Given the description of an element on the screen output the (x, y) to click on. 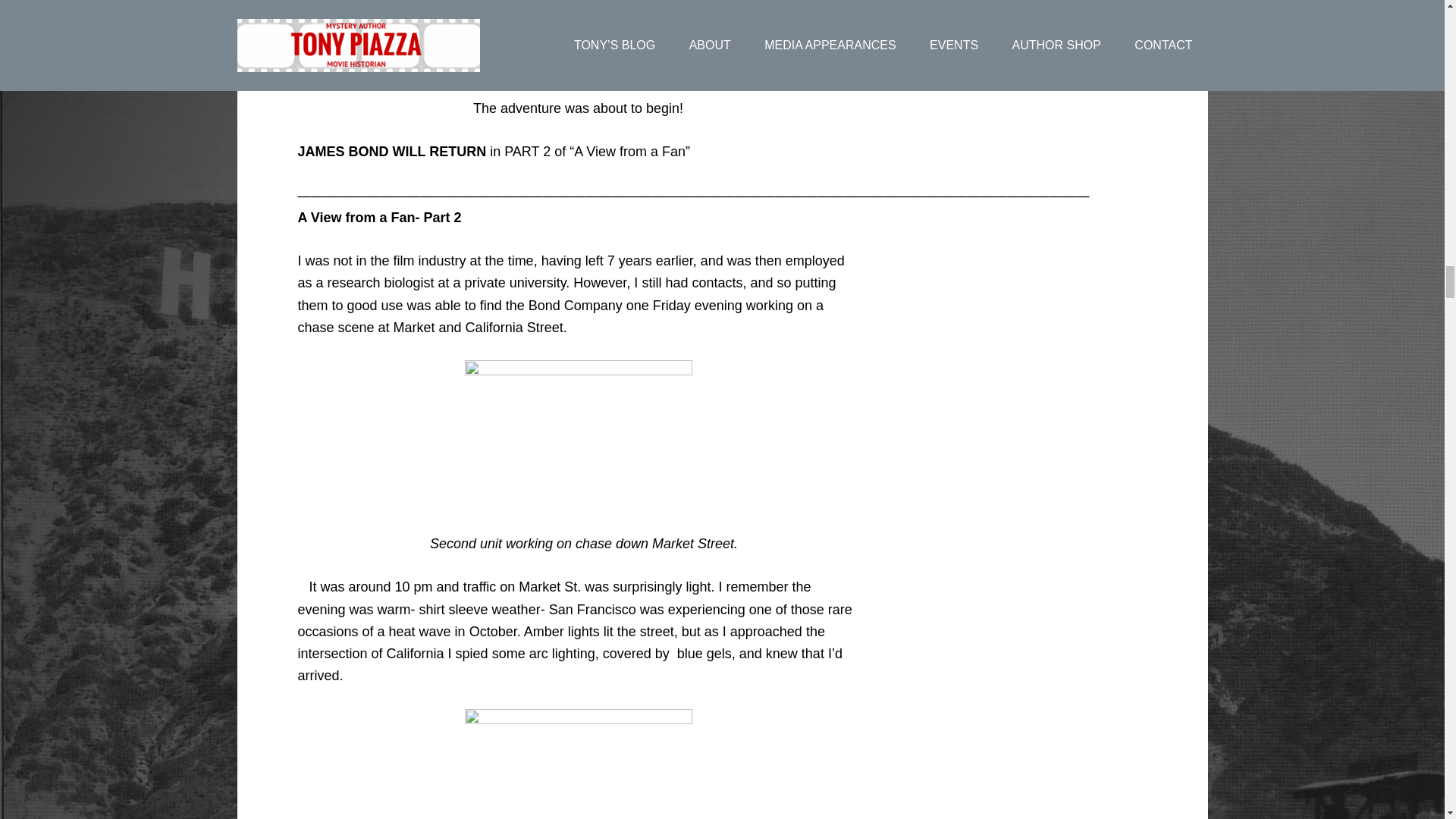
Bond 1 (577, 435)
007 (577, 38)
Bond 18 (577, 764)
